Given the description of an element on the screen output the (x, y) to click on. 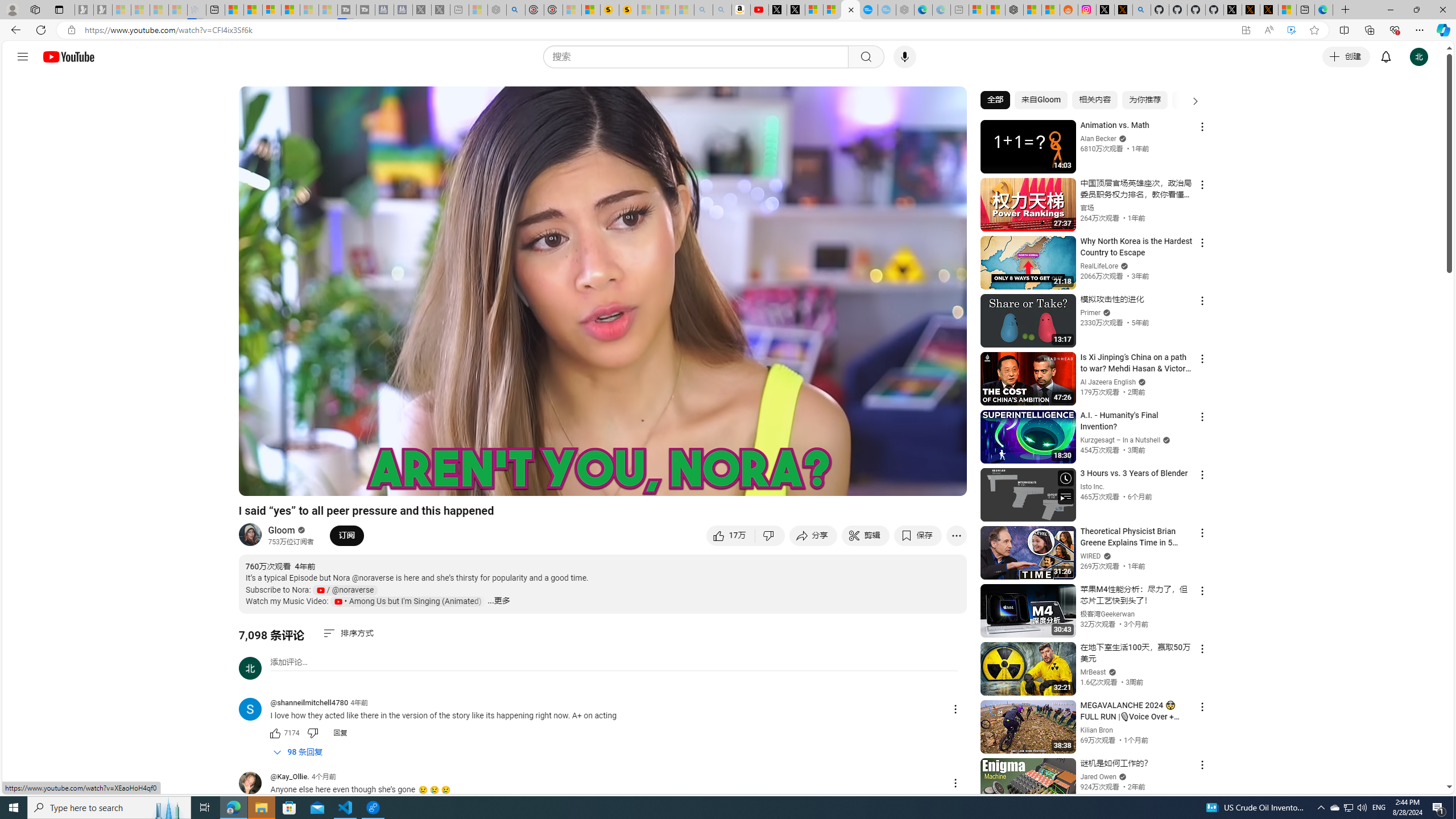
amazon - Search - Sleeping (702, 9)
Gloom (282, 530)
YouTube Channel Link: @noraverse (344, 589)
Refresh (40, 29)
